Given the description of an element on the screen output the (x, y) to click on. 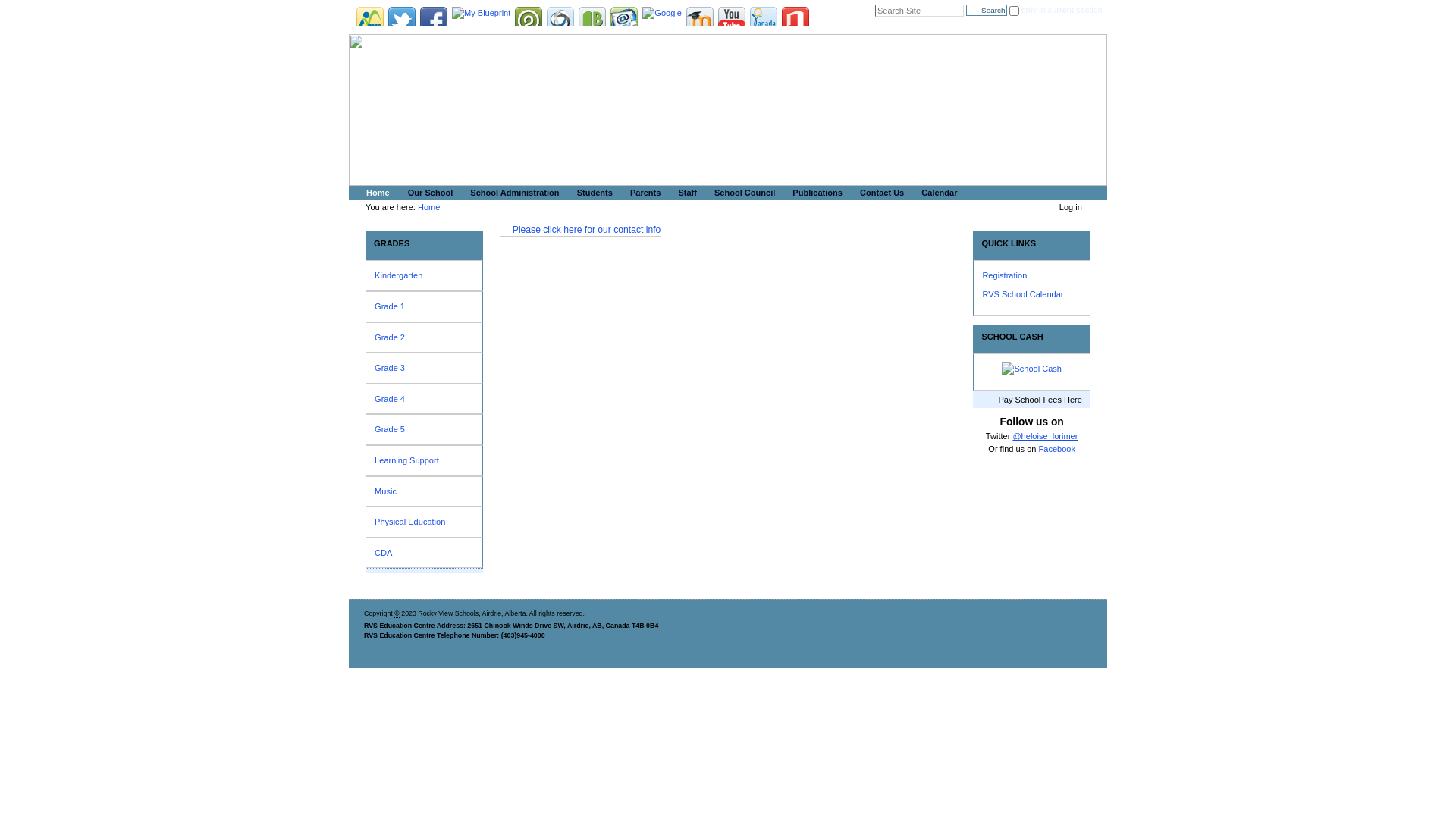
Donations Element type: hover (763, 19)
Pay School Fees Here Element type: text (1031, 399)
Bibliovation Element type: hover (591, 19)
Rocky View Corporate Site Element type: hover (369, 19)
Home Element type: text (428, 206)
Parents Element type: text (643, 192)
Site Map Element type: text (805, 678)
Privacy Policy Element type: text (1057, 678)
Students Element type: text (592, 192)
Power School Element type: hover (528, 19)
Moodle Element type: hover (699, 19)
Contact Element type: text (911, 678)
Grade 4 Element type: text (423, 398)
Search Element type: text (986, 9)
Search Site Element type: hover (919, 10)
Facebook Element type: hover (433, 19)
CDA Element type: text (423, 552)
School Administration Element type: text (512, 192)
Learning Support Element type: text (423, 460)
Physical Education Element type: text (423, 521)
SCHOOL CASH Element type: text (1031, 336)
Home Element type: text (375, 192)
Publications Element type: text (814, 192)
Calendar Element type: text (936, 192)
Registration Element type: text (1004, 274)
Grade 5 Element type: text (423, 429)
RVS School Calendar Element type: text (1022, 293)
YouTube Element type: hover (731, 19)
Google Element type: hover (661, 11)
RVS Gmail Element type: hover (623, 19)
Contact Us Element type: text (879, 192)
Office 365 Element type: hover (795, 19)
My Blueprint Element type: hover (480, 11)
Please click here for our contact info Element type: text (580, 229)
SchoolCash.png Element type: hover (1031, 368)
Terms of Service Element type: text (985, 678)
Grade 3 Element type: text (423, 367)
Facebook Element type: text (1056, 448)
Log in Element type: text (1070, 206)
Music Element type: text (423, 491)
Accessibility Element type: text (859, 678)
School Council Element type: text (742, 192)
Our School Element type: text (427, 192)
School Cash Net Element type: hover (560, 19)
Grade 2 Element type: text (423, 337)
Twitter Element type: hover (401, 19)
Grade 1 Element type: text (423, 306)
Staff Element type: text (684, 192)
@heloise_lorimer Element type: text (1044, 435)
Kindergarten Element type: text (423, 275)
